Given the description of an element on the screen output the (x, y) to click on. 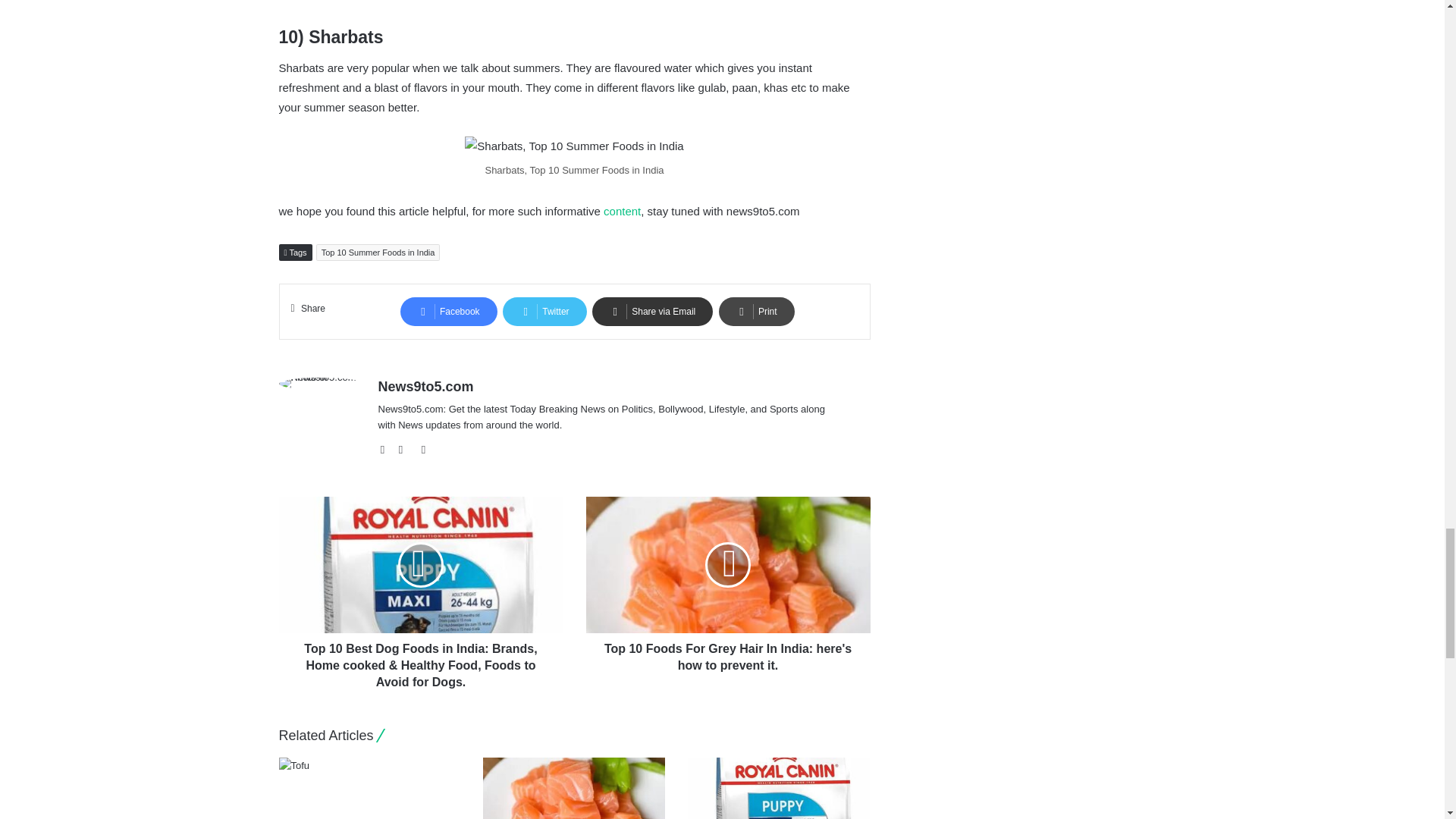
Top 10 Summer Foods in India (378, 252)
content (622, 210)
